Given the description of an element on the screen output the (x, y) to click on. 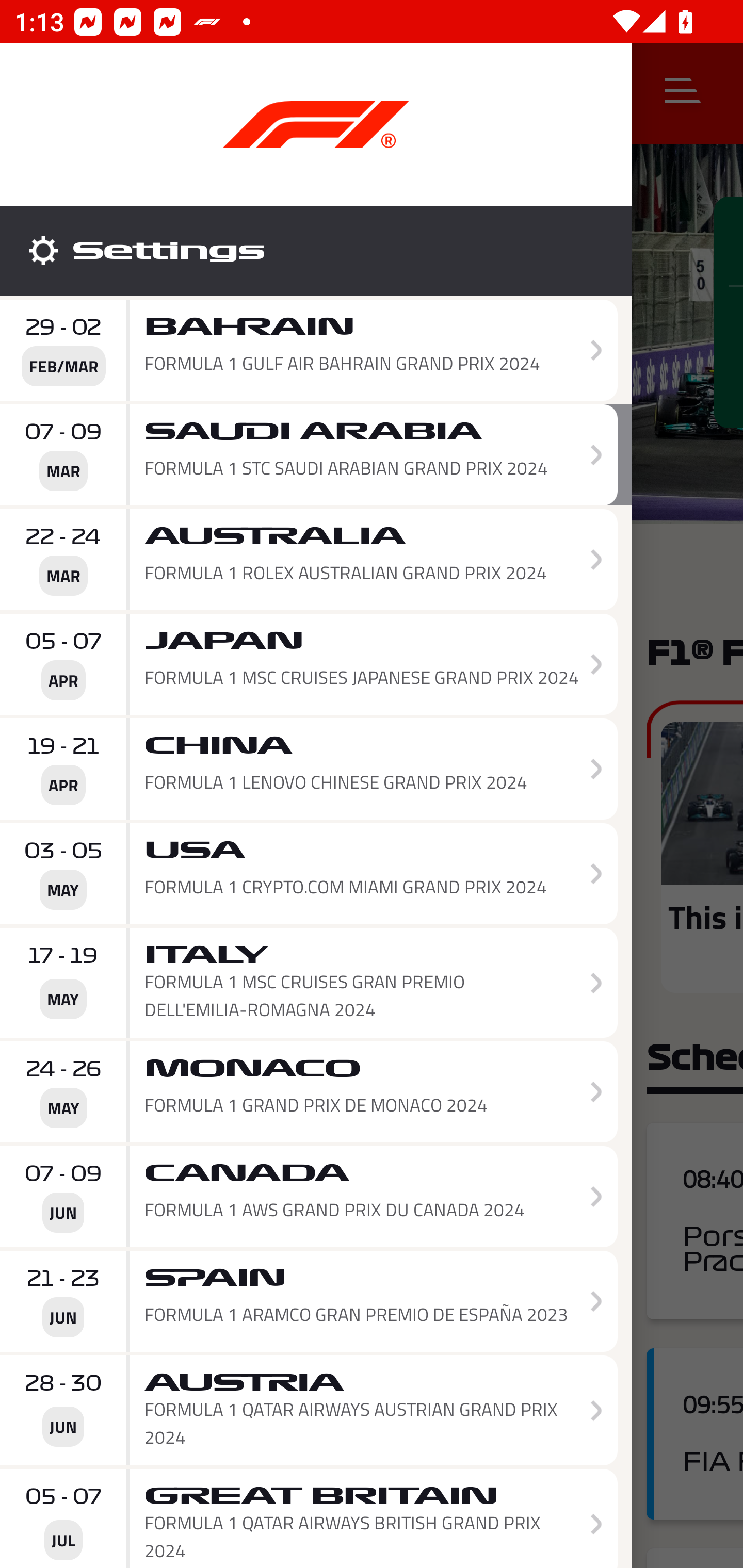
Settings (316, 250)
